Given the description of an element on the screen output the (x, y) to click on. 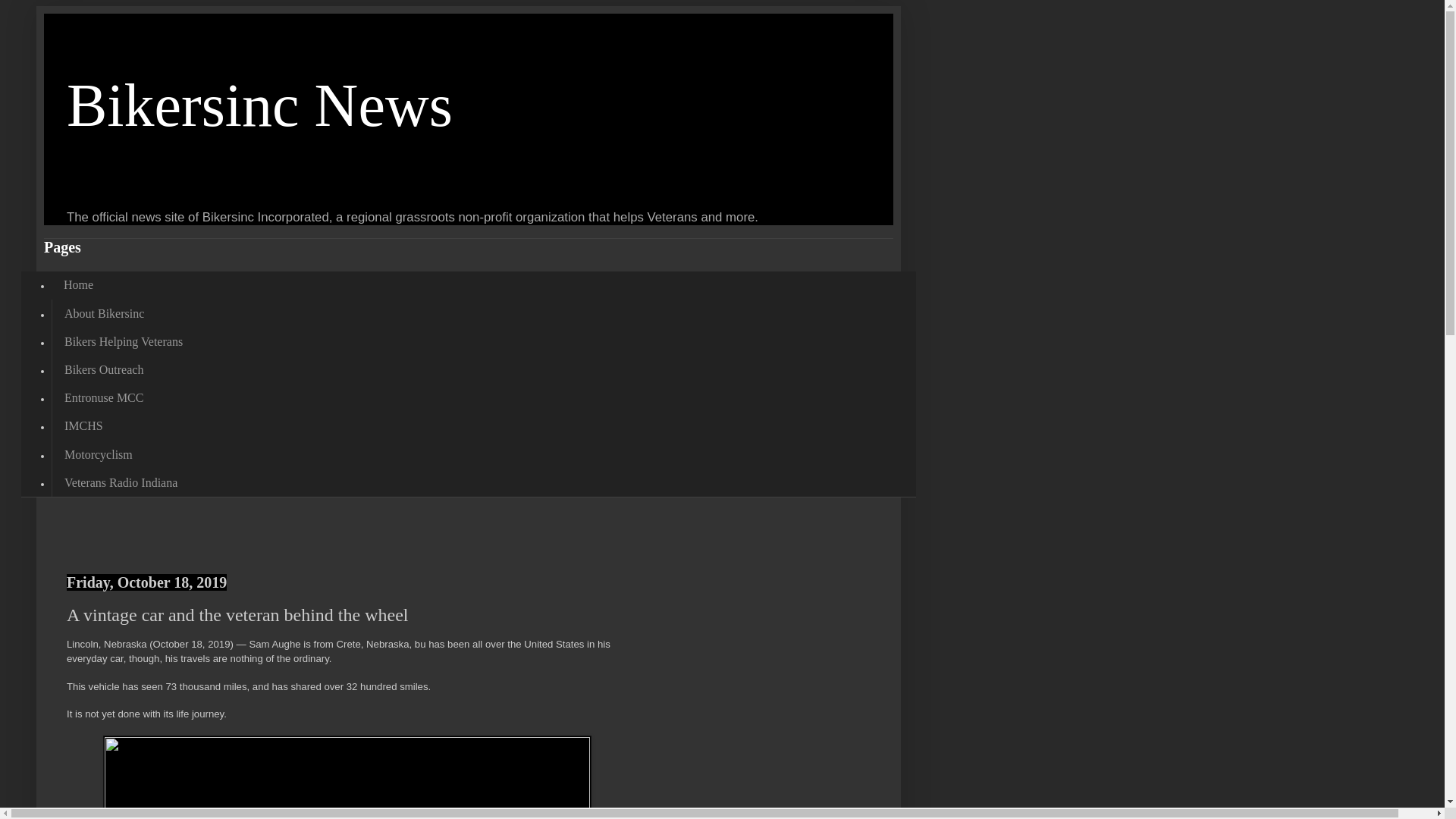
Bikersinc News (259, 105)
Bikers Outreach (102, 369)
Entronuse MCC (102, 398)
Motorcyclism (97, 454)
Veterans Radio Indiana (119, 482)
IMCHS (82, 426)
About Bikersinc (102, 313)
Home (77, 285)
Bikers Helping Veterans (122, 341)
